Given the description of an element on the screen output the (x, y) to click on. 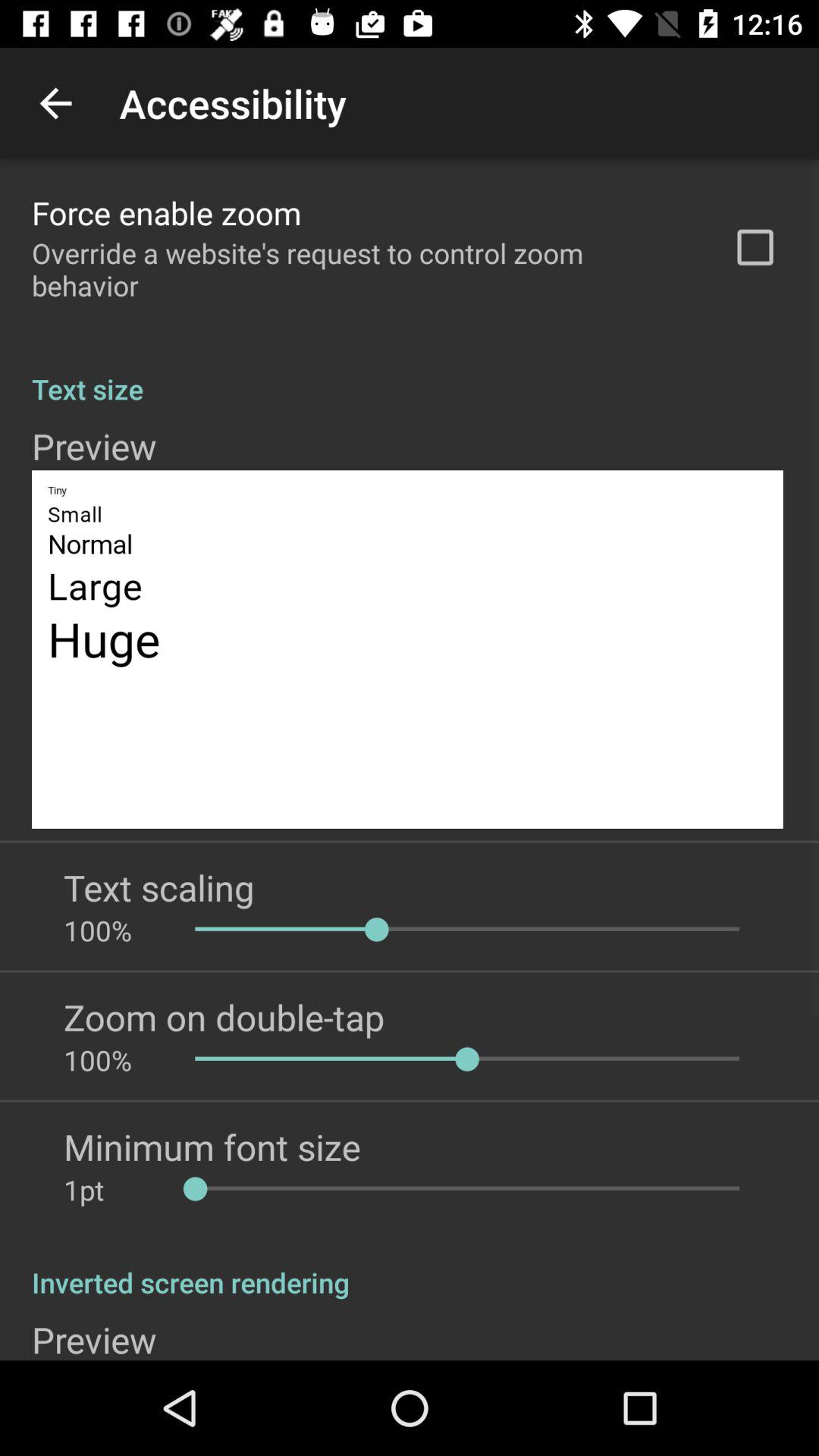
select the  box which is beside to force enable zoom (755, 247)
